Given the description of an element on the screen output the (x, y) to click on. 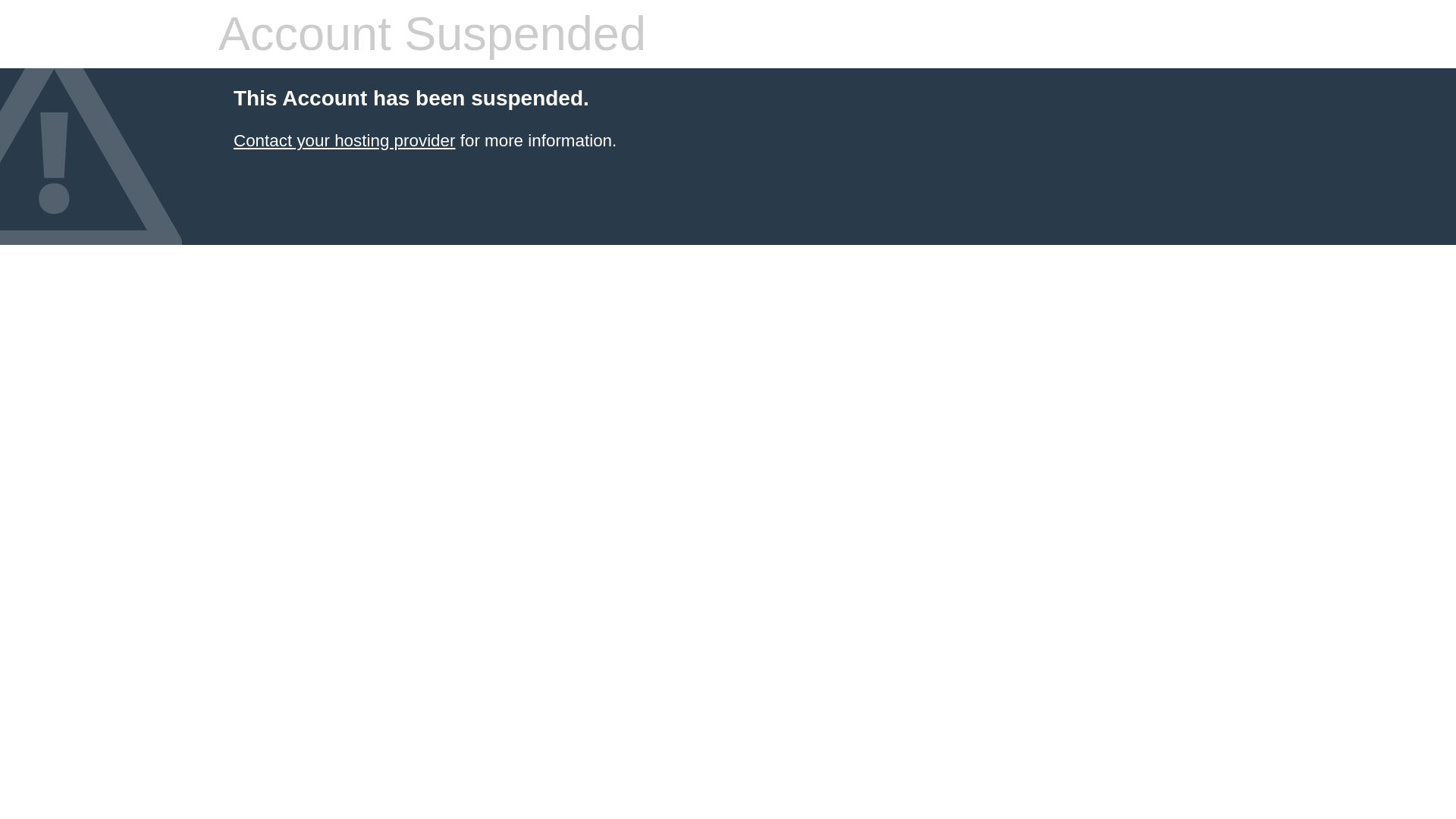
Contact your hosting provider (343, 140)
